Given the description of an element on the screen output the (x, y) to click on. 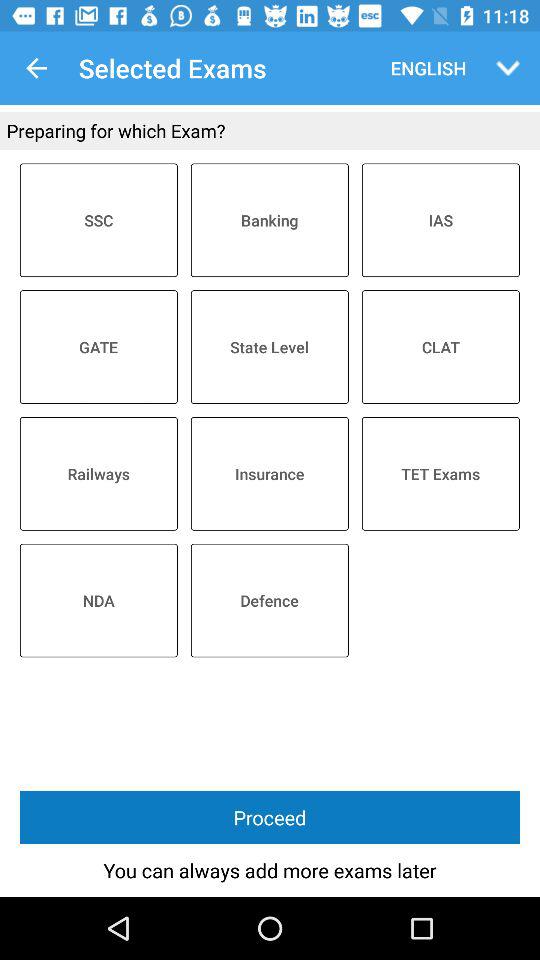
select the text which is left to the drop down (423, 68)
click on the drop down button beside english (508, 68)
select proceed (269, 817)
